Given the description of an element on the screen output the (x, y) to click on. 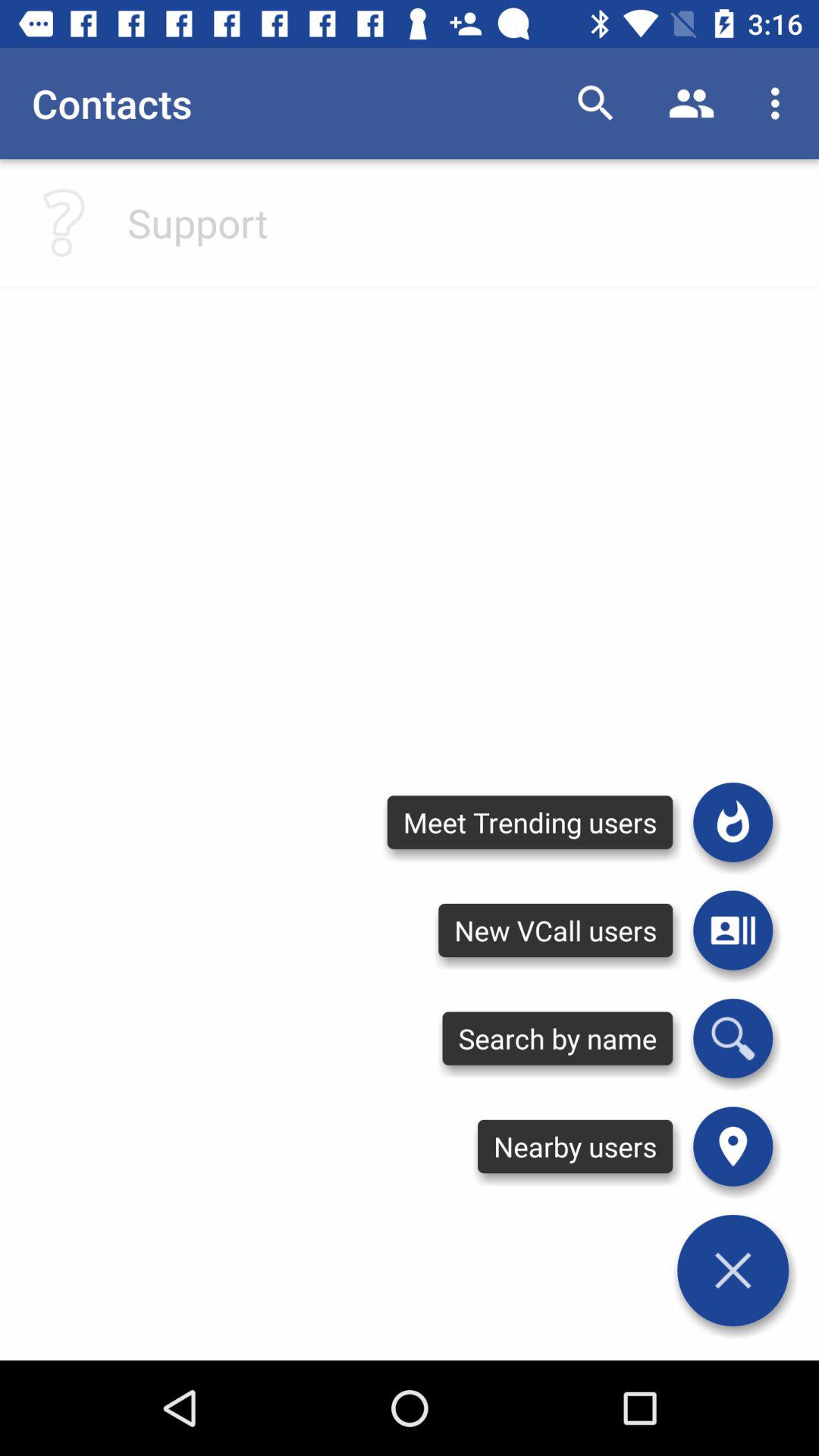
swipe to nearby users icon (575, 1146)
